Given the description of an element on the screen output the (x, y) to click on. 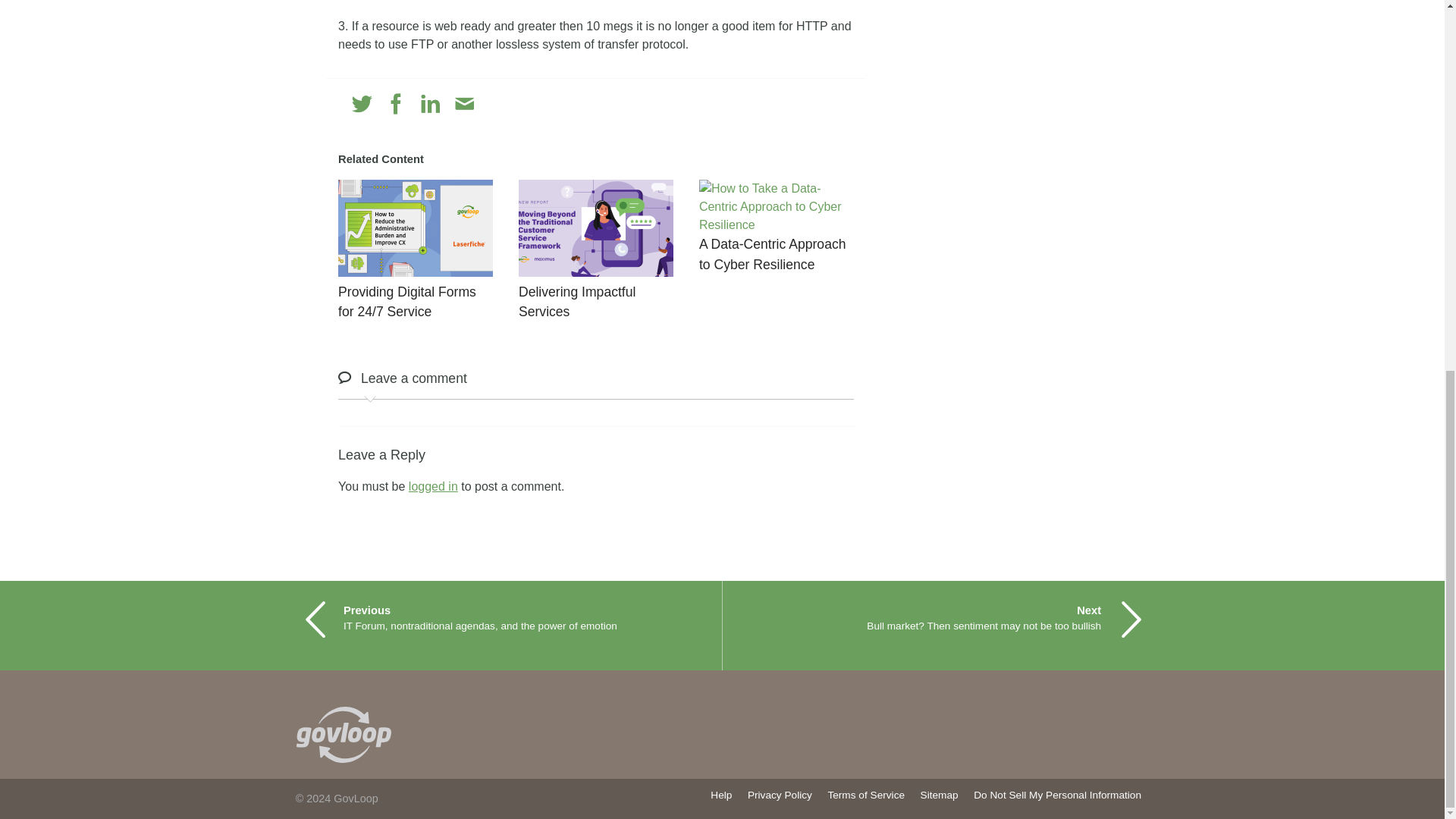
Print (497, 104)
Twitter (362, 104)
Facebook (395, 104)
Linkedin (430, 104)
Email (464, 104)
